Given the description of an element on the screen output the (x, y) to click on. 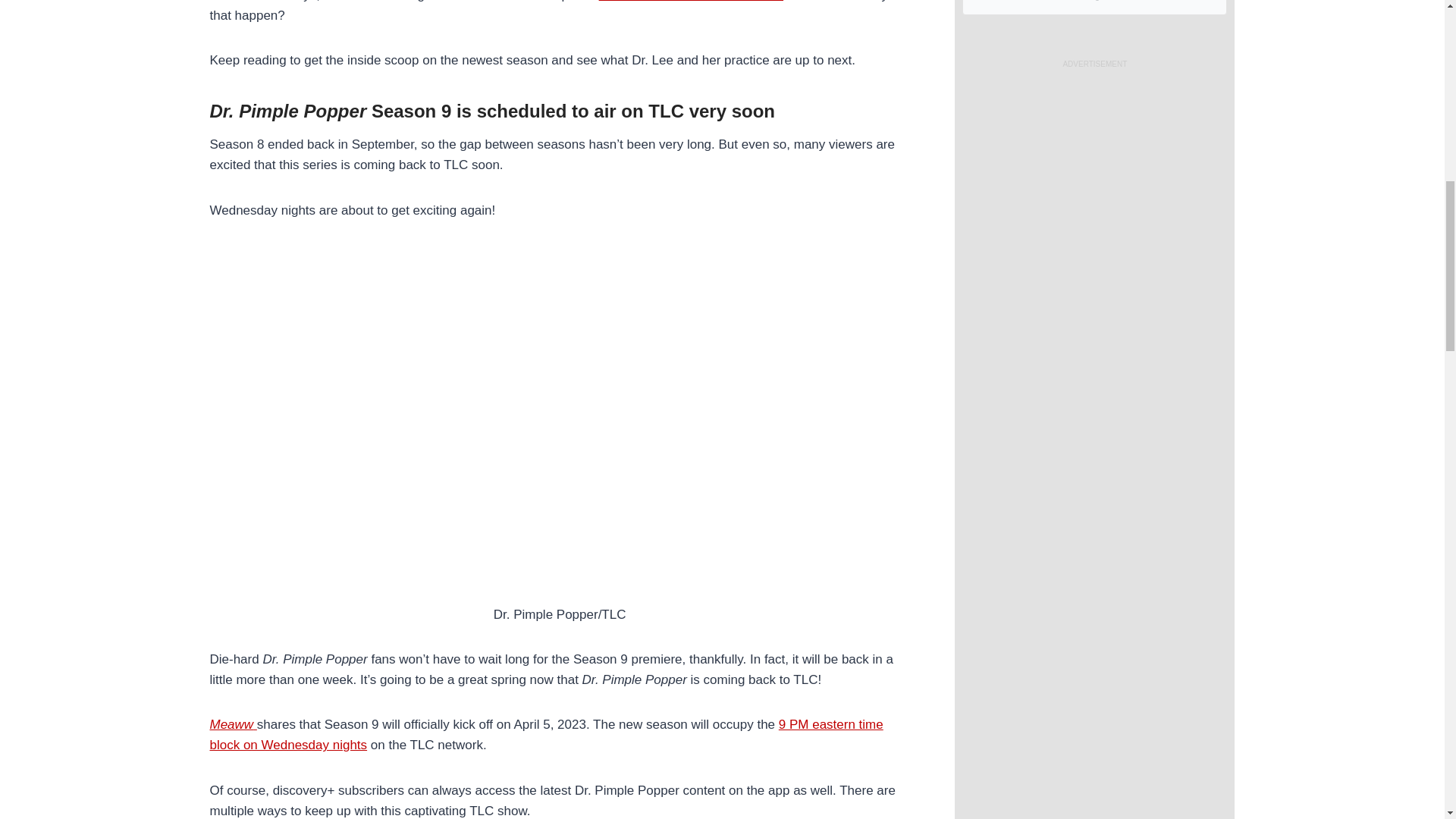
Meaww (232, 724)
their favorite TLC medical series (690, 1)
9 PM eastern time block on Wednesday nights (545, 734)
